Given the description of an element on the screen output the (x, y) to click on. 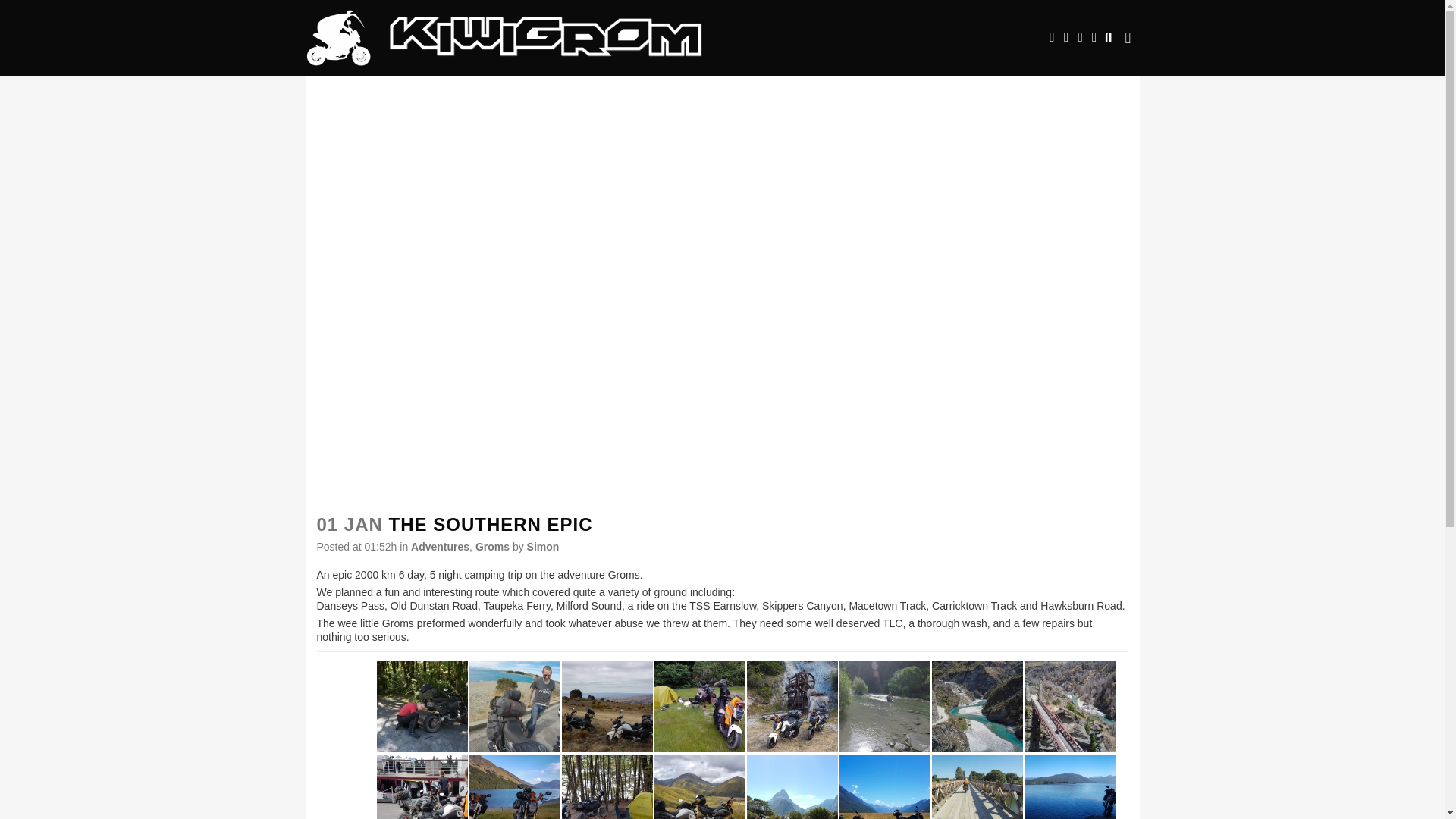
The Nevis (606, 706)
Skippers Canyon (976, 706)
A fan at Lake Pukaki (513, 706)
Macetown Battery (791, 706)
Milford Road repair (421, 706)
Macetown Camp (698, 706)
Skippers Canyon Bridge (1069, 706)
Macetown Track (884, 706)
